Given the description of an element on the screen output the (x, y) to click on. 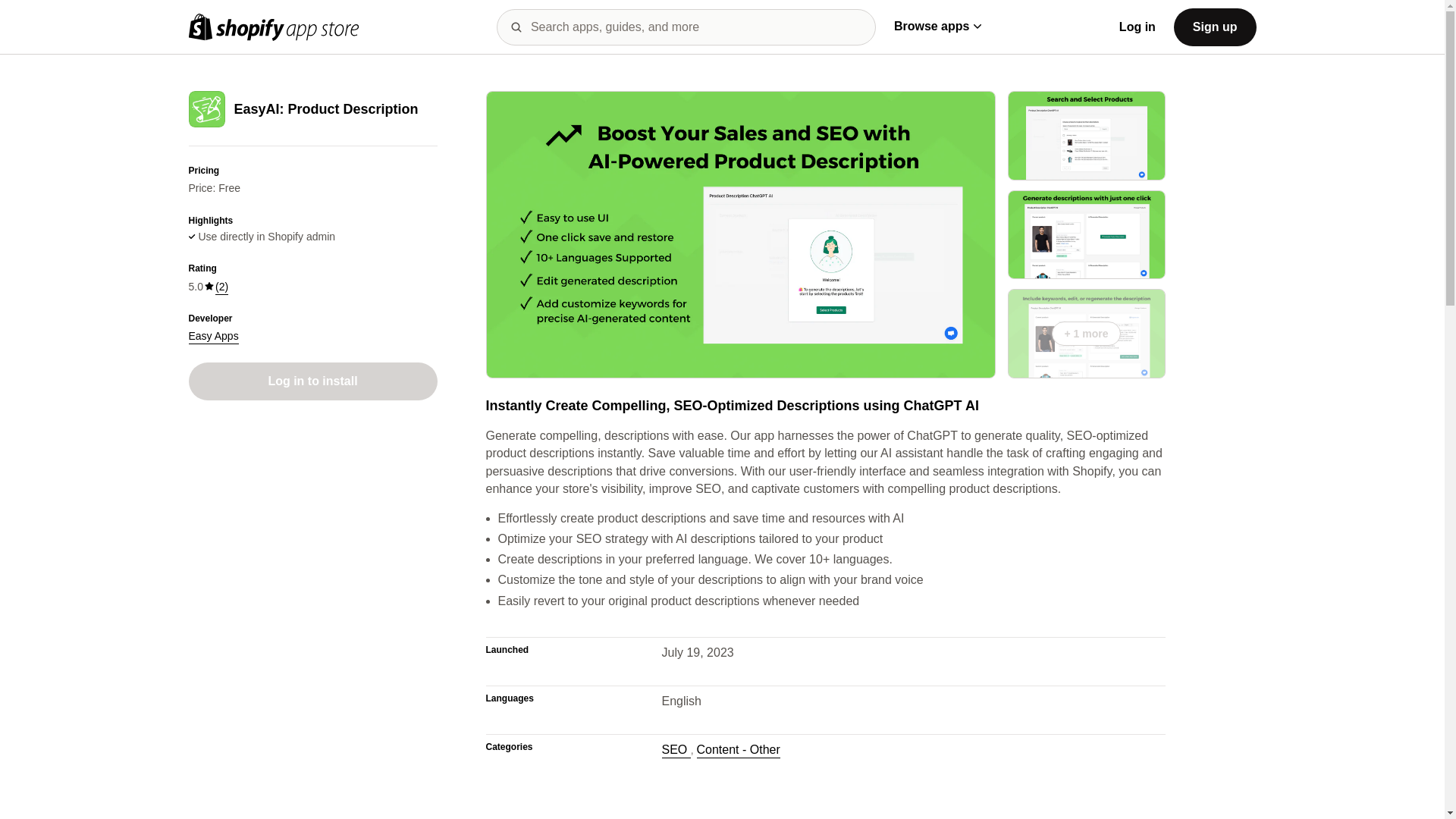
Easy Apps (212, 336)
Log in (1137, 27)
Sign up (1214, 26)
Log in to install (311, 381)
Browse apps (937, 26)
